Given the description of an element on the screen output the (x, y) to click on. 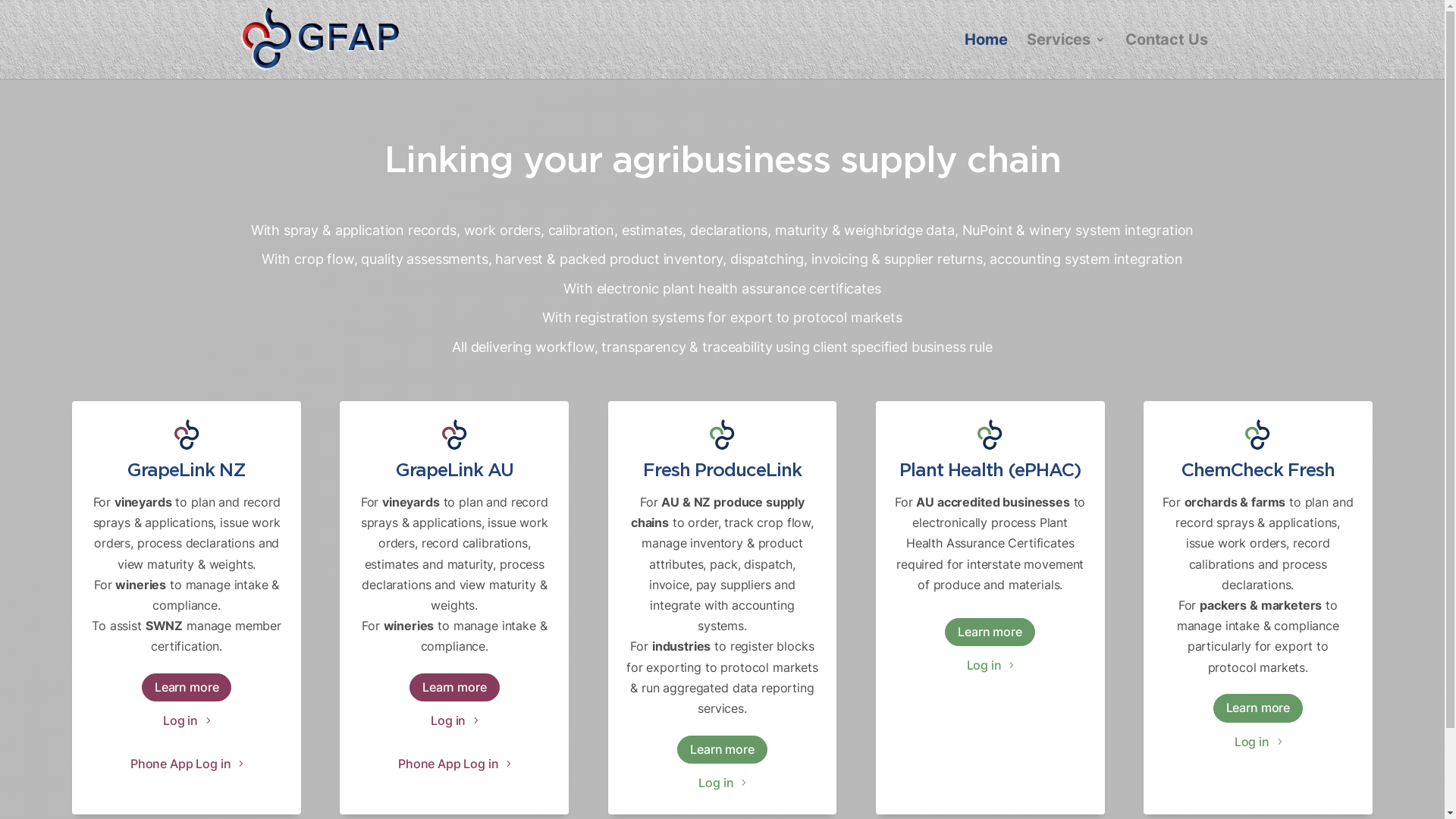
Home Element type: text (985, 56)
Log in Element type: text (186, 720)
Learn more Element type: text (454, 687)
Phone App Log in Element type: text (186, 763)
Log in Element type: text (1257, 741)
Learn more Element type: text (1258, 707)
Log in Element type: text (721, 782)
Learn more Element type: text (186, 687)
Services Element type: text (1065, 56)
Phone App Log in Element type: text (454, 763)
Contact Us Element type: text (1166, 56)
Learn more Element type: text (989, 632)
Learn more Element type: text (722, 749)
Log in Element type: text (453, 720)
Log in Element type: text (990, 665)
